Given the description of an element on the screen output the (x, y) to click on. 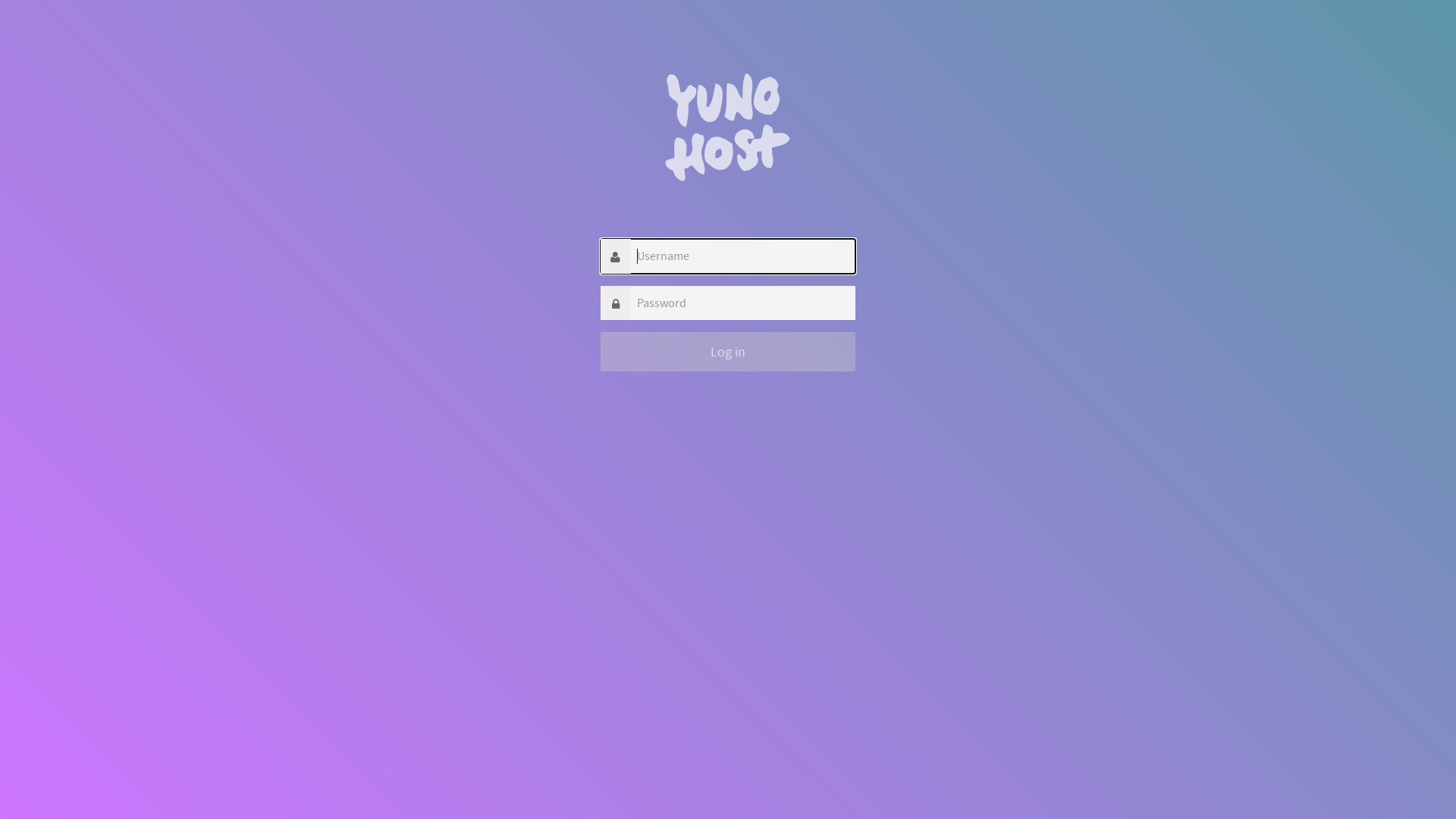
Log in Element type: text (727, 351)
